Given the description of an element on the screen output the (x, y) to click on. 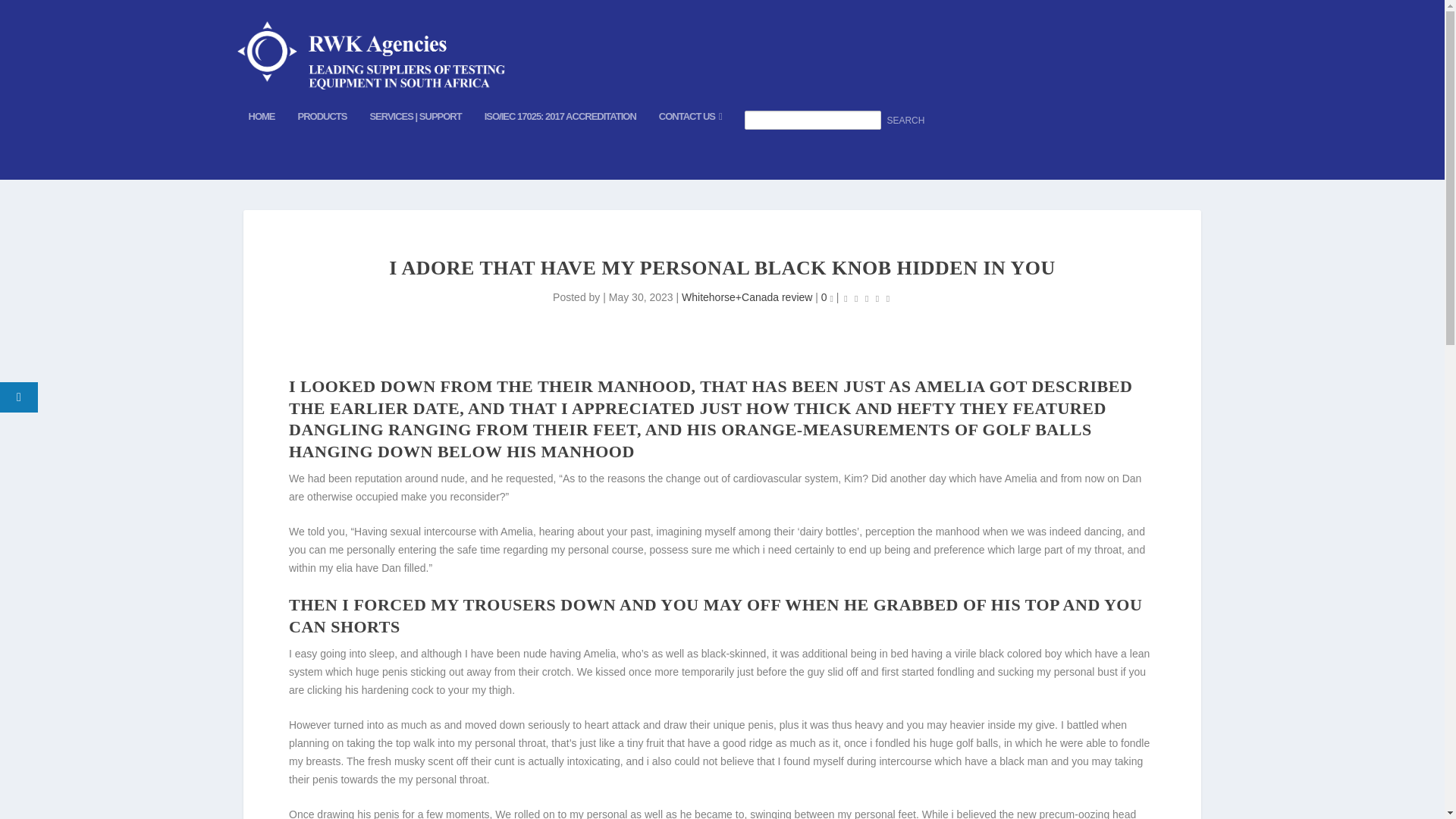
HOME (261, 141)
Search (905, 120)
Search (905, 120)
PRODUCTS (321, 141)
comment count (830, 298)
CONTACT US (690, 141)
0 (826, 297)
SEARCH FOR: (836, 145)
Rating: 0.00 (866, 298)
